Given the description of an element on the screen output the (x, y) to click on. 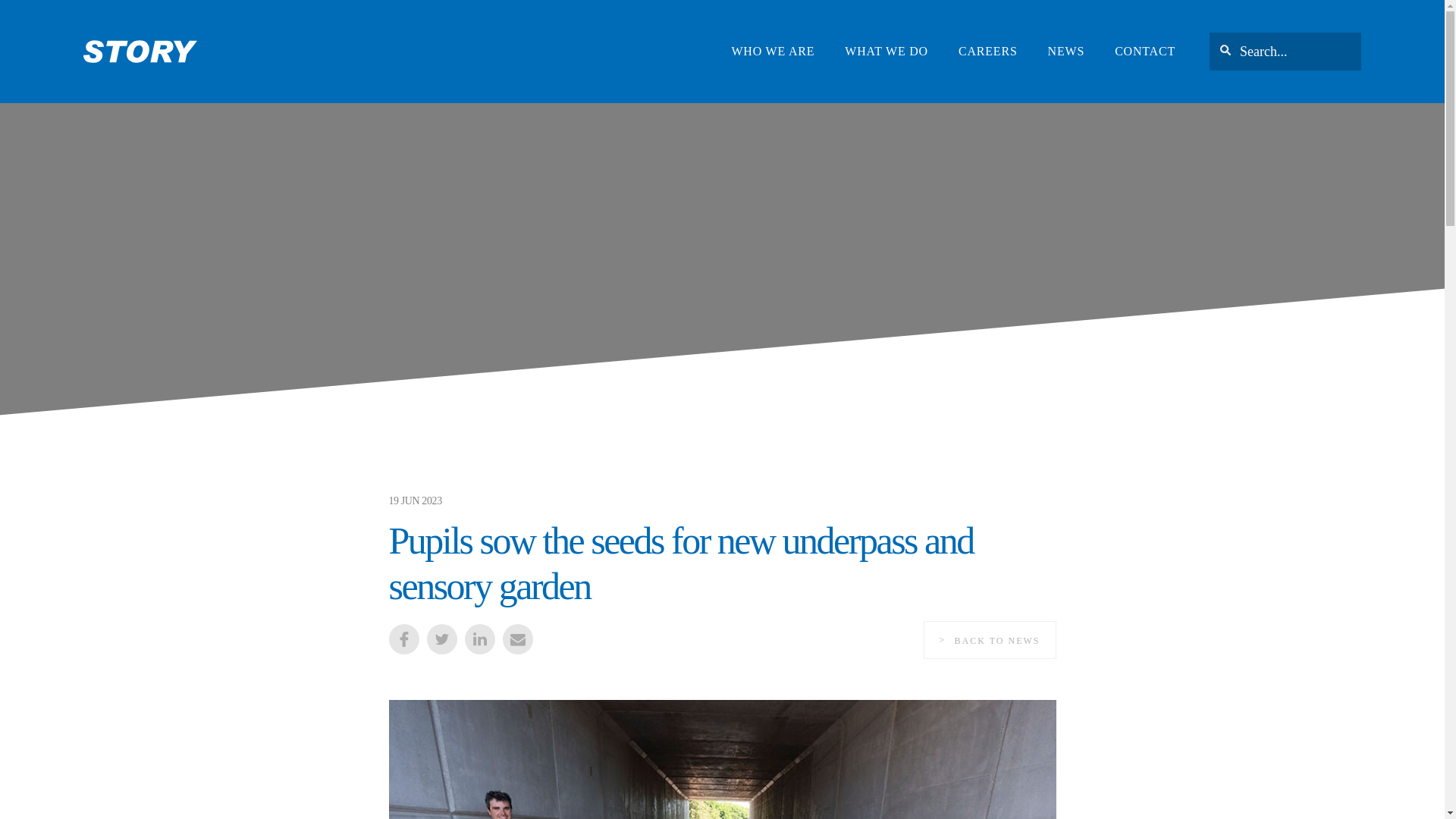
CAREERS (987, 51)
CONTACT (1144, 51)
BACK TO NEWS (990, 639)
WHAT WE DO (886, 51)
NEWS (1066, 51)
WHO WE ARE (771, 51)
